Given the description of an element on the screen output the (x, y) to click on. 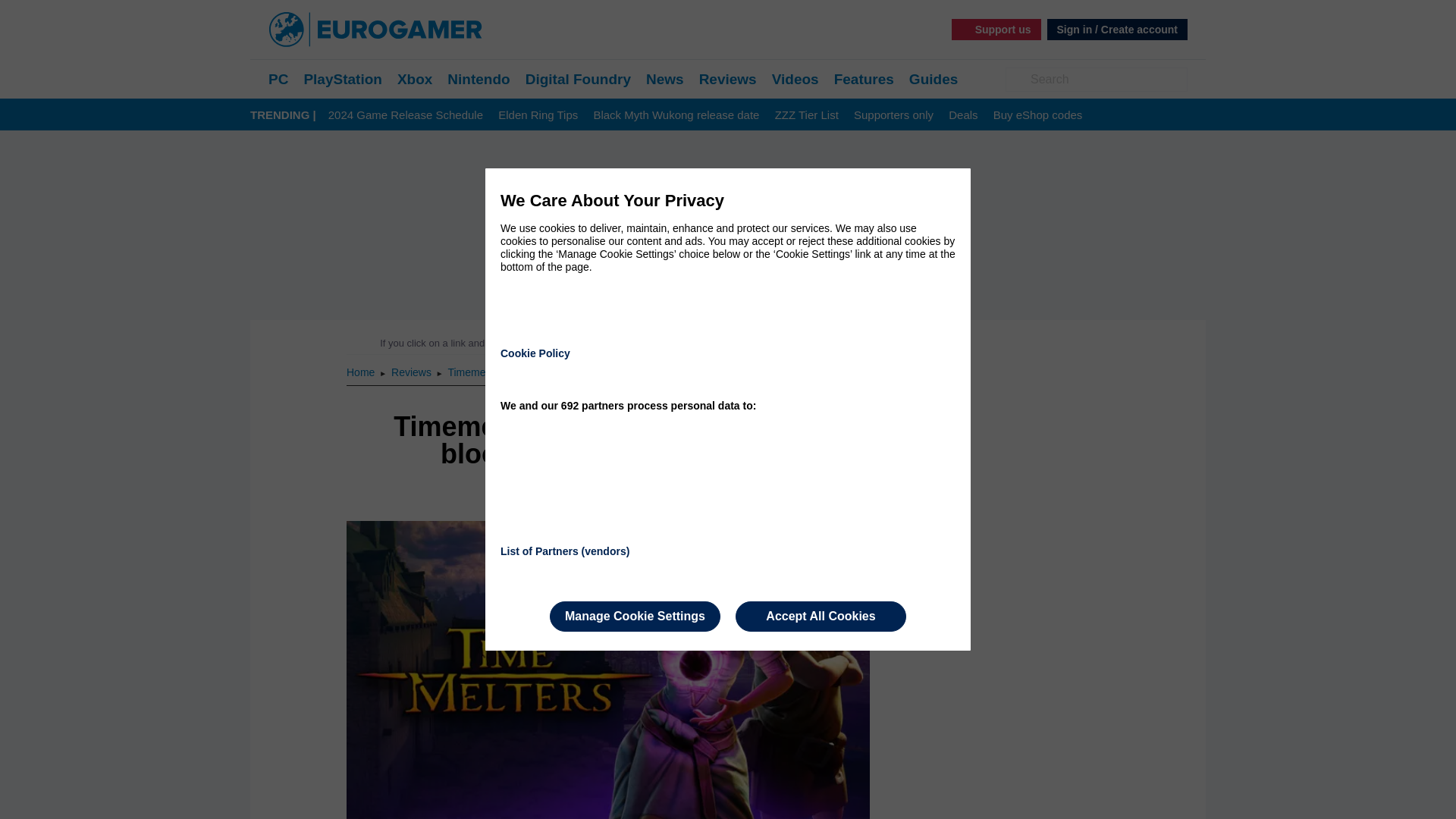
Guides (933, 78)
Digital Foundry (577, 78)
Reviews (727, 78)
Features (863, 78)
Videos (794, 78)
Black Myth Wukong release date (675, 114)
Videos (794, 78)
Home (361, 372)
ZZZ Tier List (806, 114)
PlayStation (341, 78)
